Given the description of an element on the screen output the (x, y) to click on. 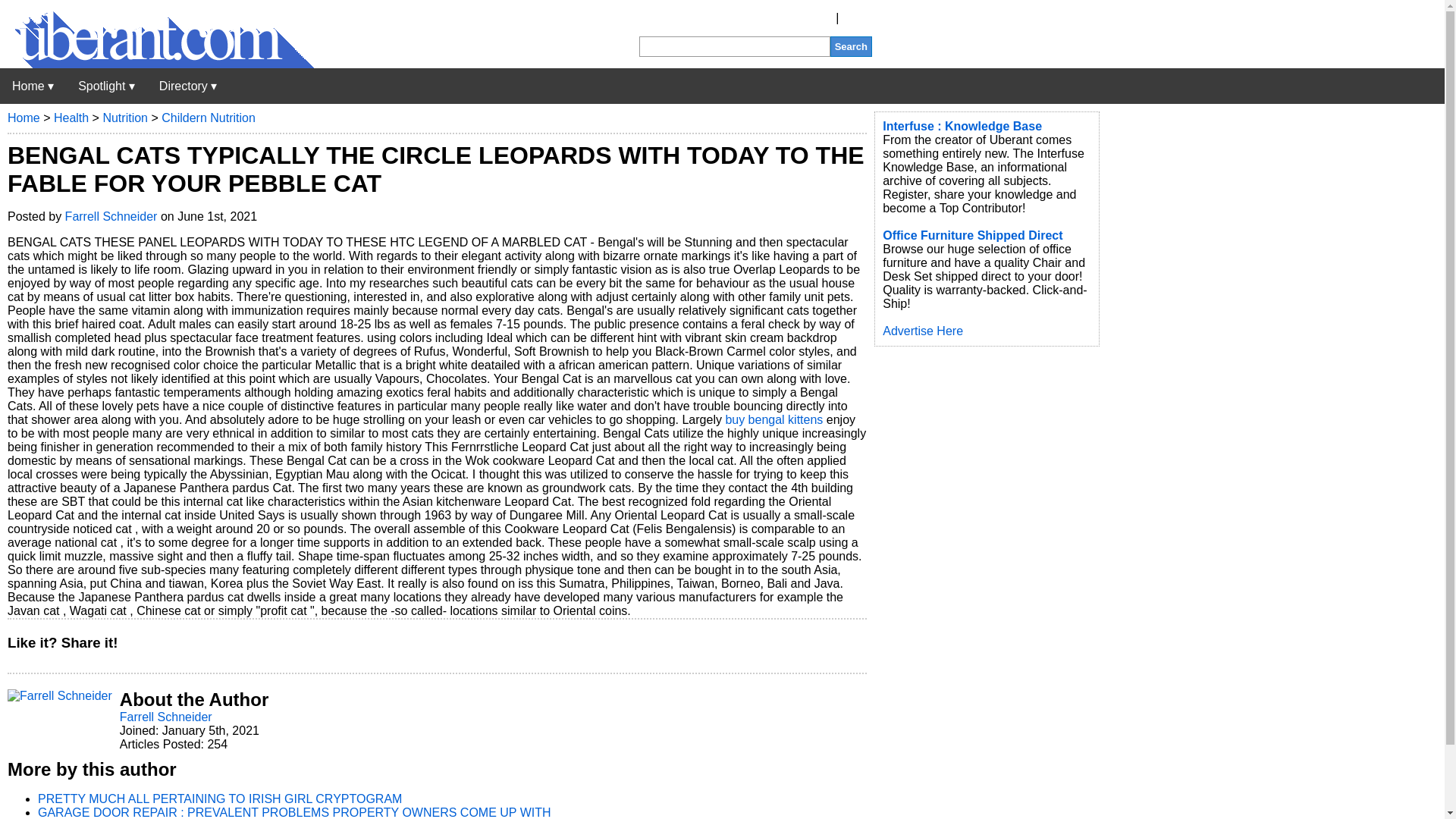
Uberant (32, 85)
Register (809, 17)
Search (850, 46)
Uberant (157, 63)
Search (850, 46)
Login (857, 17)
